Given the description of an element on the screen output the (x, y) to click on. 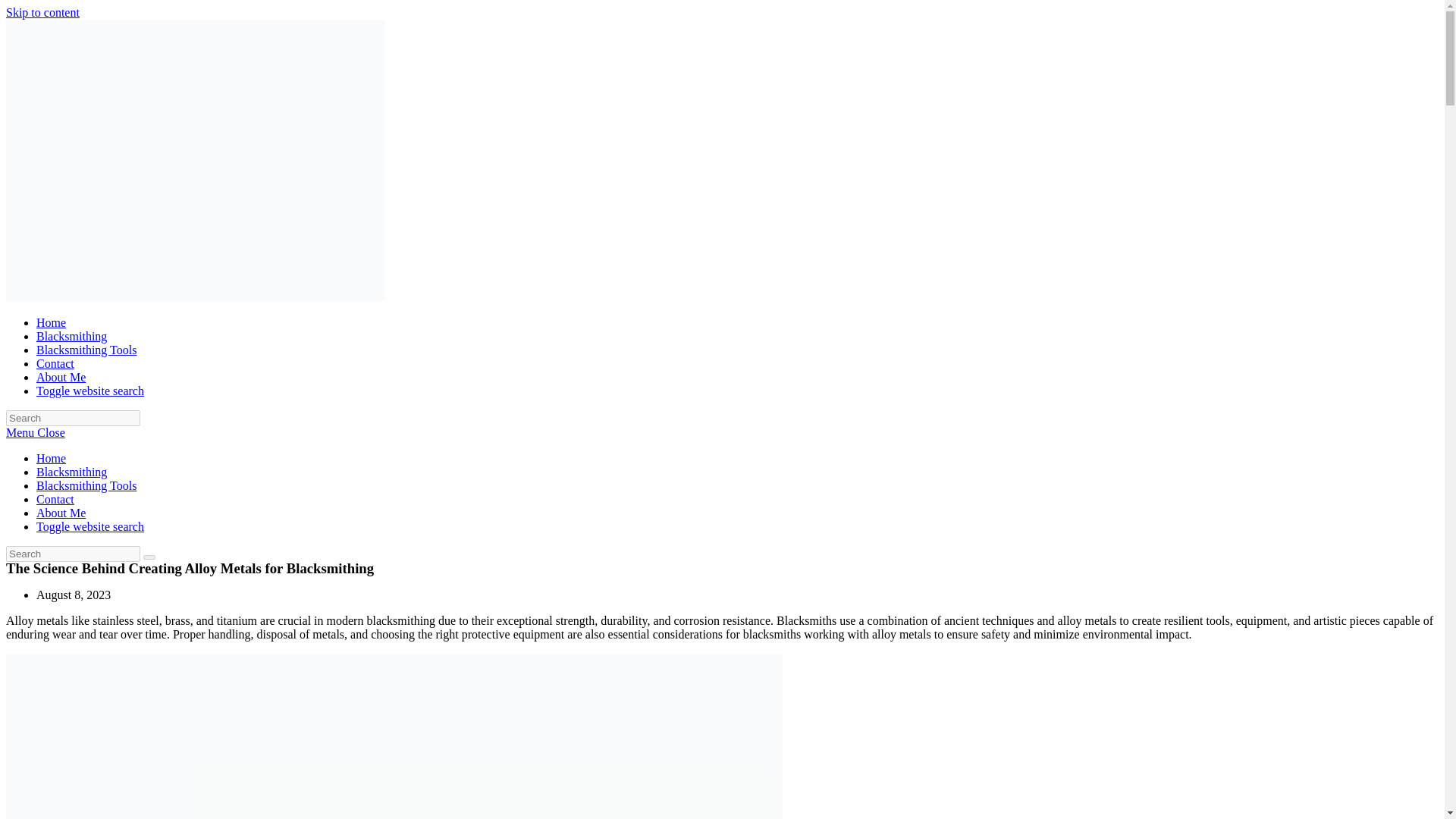
Menu Close (35, 431)
Blacksmithing Tools (86, 485)
About Me (60, 512)
Toggle website search (90, 526)
About Me (60, 377)
Skip to content (42, 11)
Contact (55, 363)
Blacksmithing (71, 472)
Contact (55, 499)
Home (50, 322)
Home (50, 458)
Toggle website search (90, 390)
Blacksmithing Tools (86, 349)
Blacksmithing (71, 336)
